Given the description of an element on the screen output the (x, y) to click on. 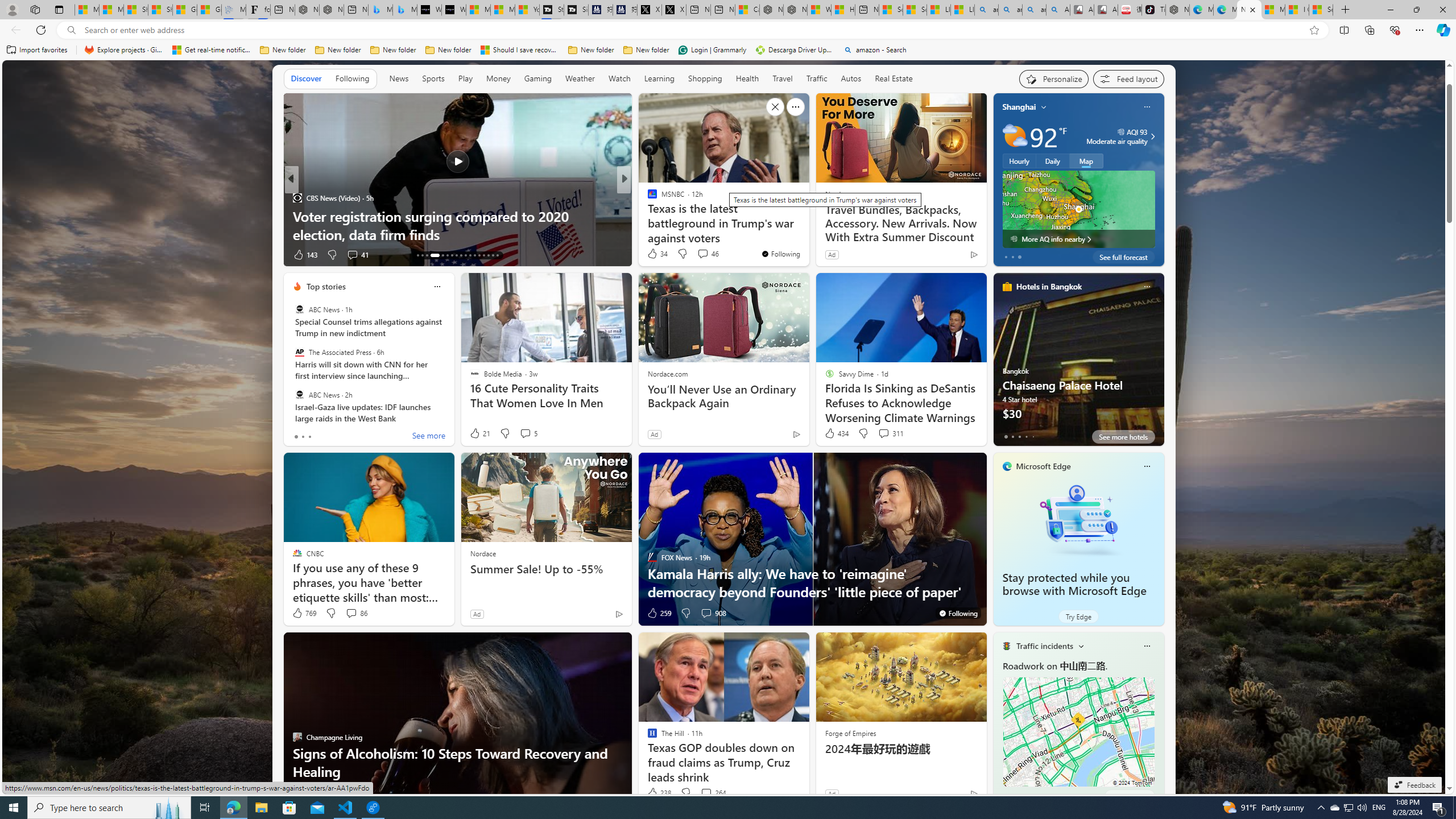
Gaming (537, 79)
View comments 2 Comment (347, 792)
Hotels in Bangkok (1048, 286)
Gilma and Hector both pose tropical trouble for Hawaii (208, 9)
Import favorites (36, 49)
